Given the description of an element on the screen output the (x, y) to click on. 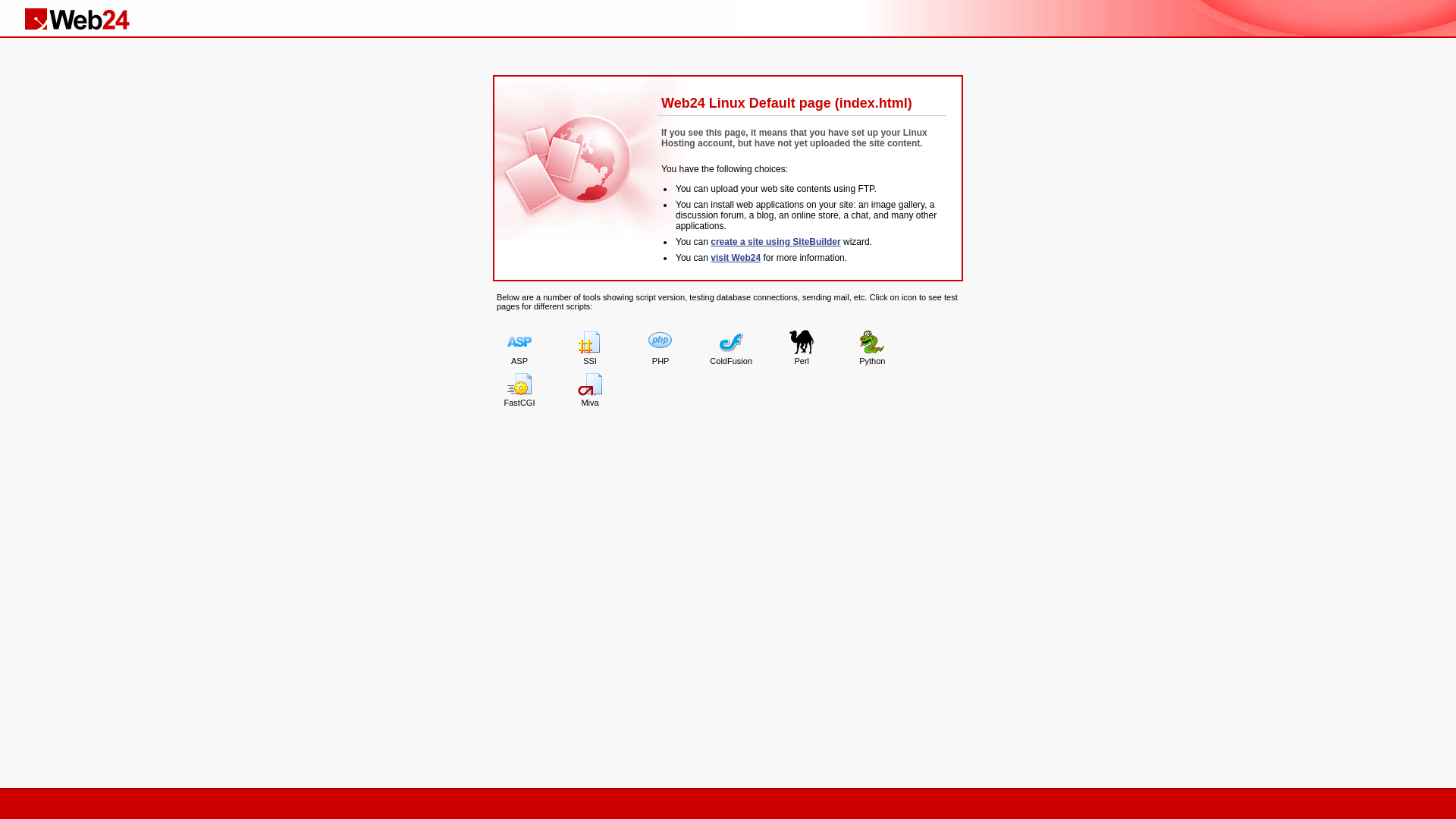
visit Web24 Element type: text (735, 257)
ColdFusion Element type: text (730, 348)
FastCGI Element type: text (519, 390)
Web24 Linux Hosting Element type: hover (79, 18)
ASP Element type: text (519, 348)
Perl Element type: text (801, 348)
PHP Element type: text (660, 348)
Miva Element type: text (589, 390)
create a site using SiteBuilder Element type: text (775, 241)
SSI Element type: text (589, 348)
Python Element type: text (871, 348)
